Given the description of an element on the screen output the (x, y) to click on. 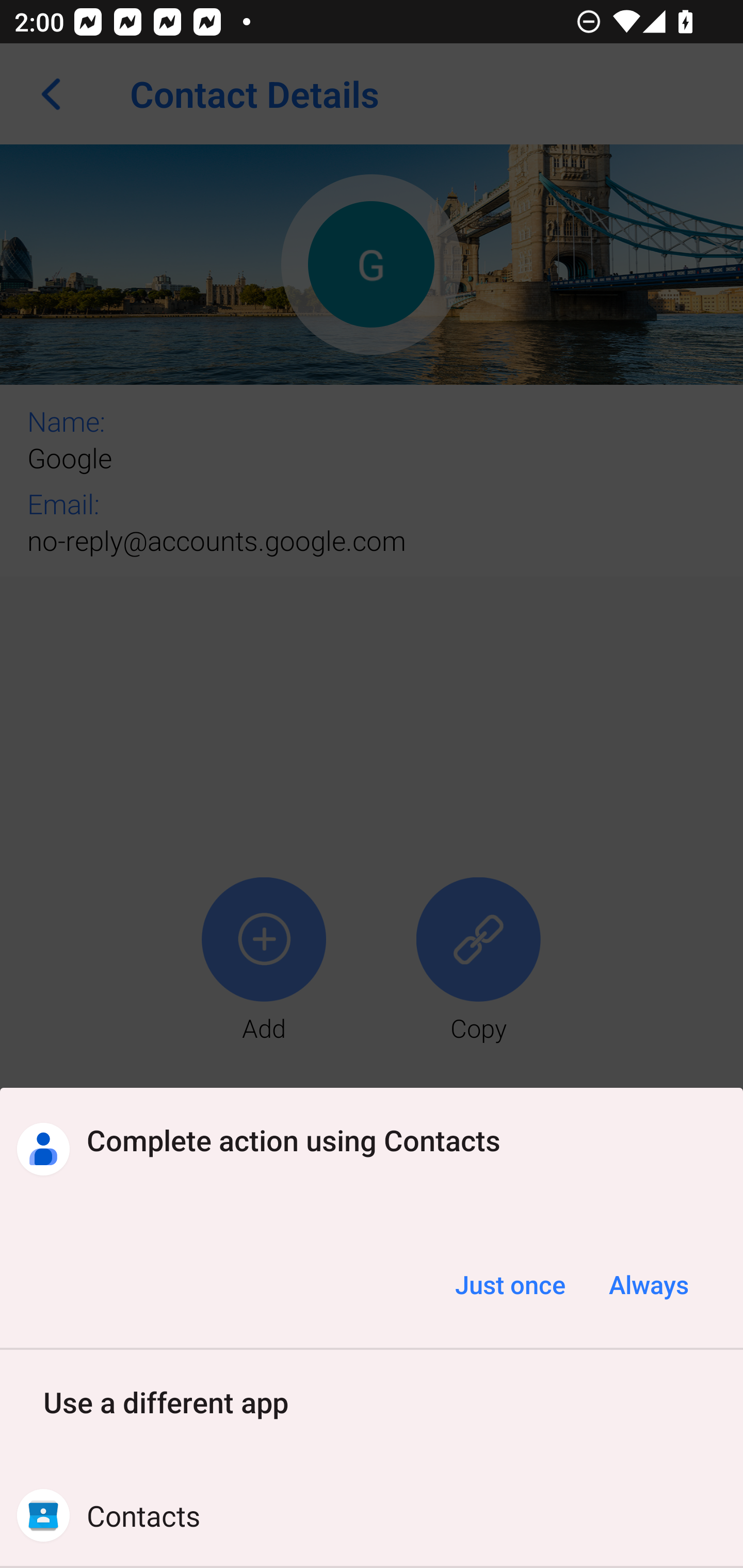
Just once (509, 1283)
Always (648, 1283)
Contacts (371, 1515)
